Given the description of an element on the screen output the (x, y) to click on. 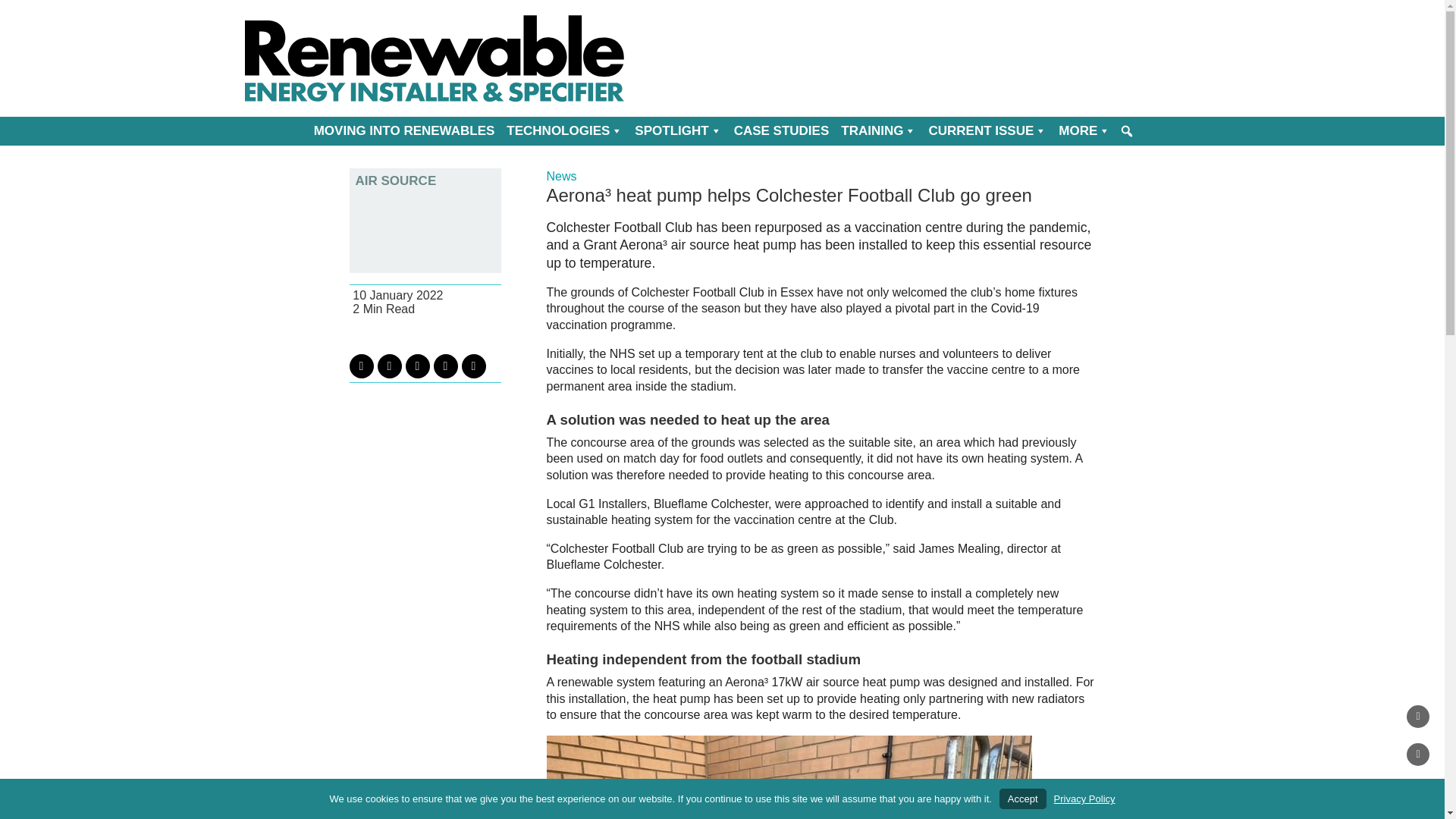
Share on LinkedIn (416, 365)
MORE (1084, 131)
Share on Facebook (389, 365)
Share on Twitter (360, 365)
Search (10, 9)
AIR SOURCE (424, 180)
SPOTLIGHT (677, 131)
MOVING INTO RENEWABLES (403, 131)
link to home page (433, 58)
TRAINING (877, 131)
CASE STUDIES (781, 131)
TECHNOLOGIES (564, 131)
Share on WhatsApp (472, 365)
CURRENT ISSUE (986, 131)
Share on Email (445, 365)
